Given the description of an element on the screen output the (x, y) to click on. 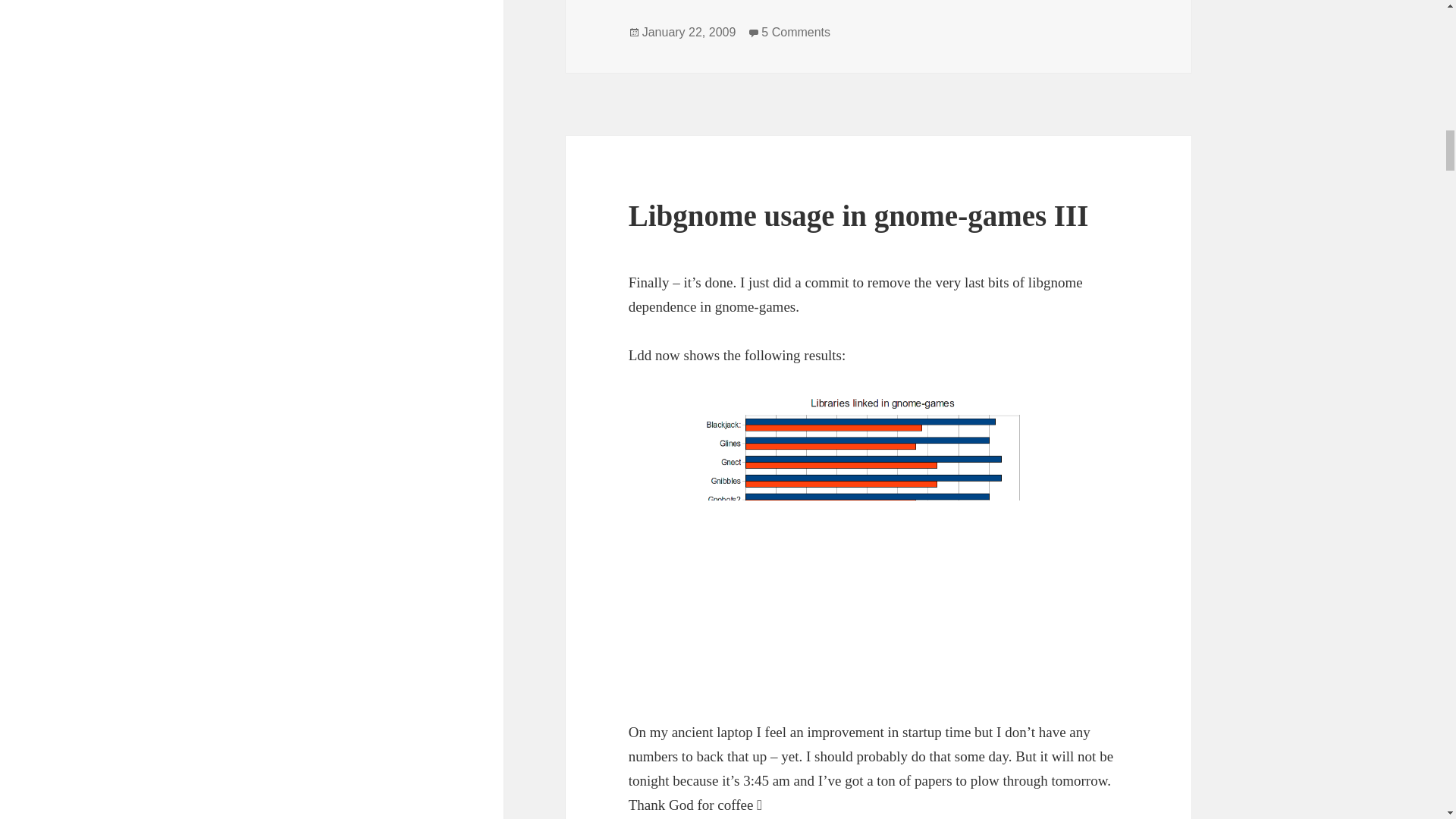
Libgnome usage in gnome-games III (858, 215)
Libs linked in gnome-games (878, 544)
January 22, 2009 (795, 32)
